Given the description of an element on the screen output the (x, y) to click on. 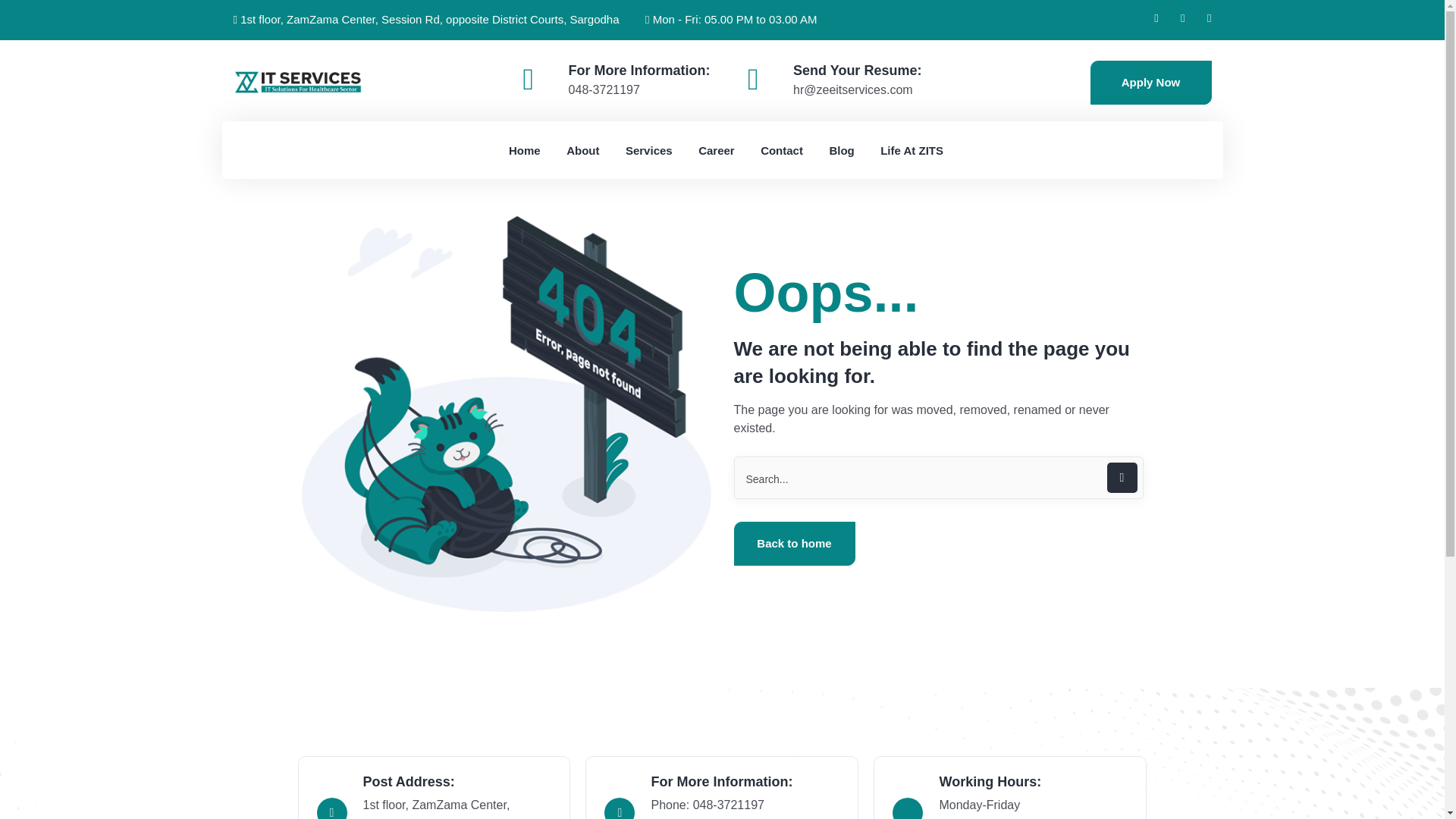
048-3721197 (604, 89)
Career (716, 150)
Contact (781, 150)
About (582, 150)
Home (524, 150)
Services (649, 150)
Search (937, 477)
Life At ZITS (911, 150)
Apply Now (1150, 82)
Back to home (794, 543)
Blog (840, 150)
